Given the description of an element on the screen output the (x, y) to click on. 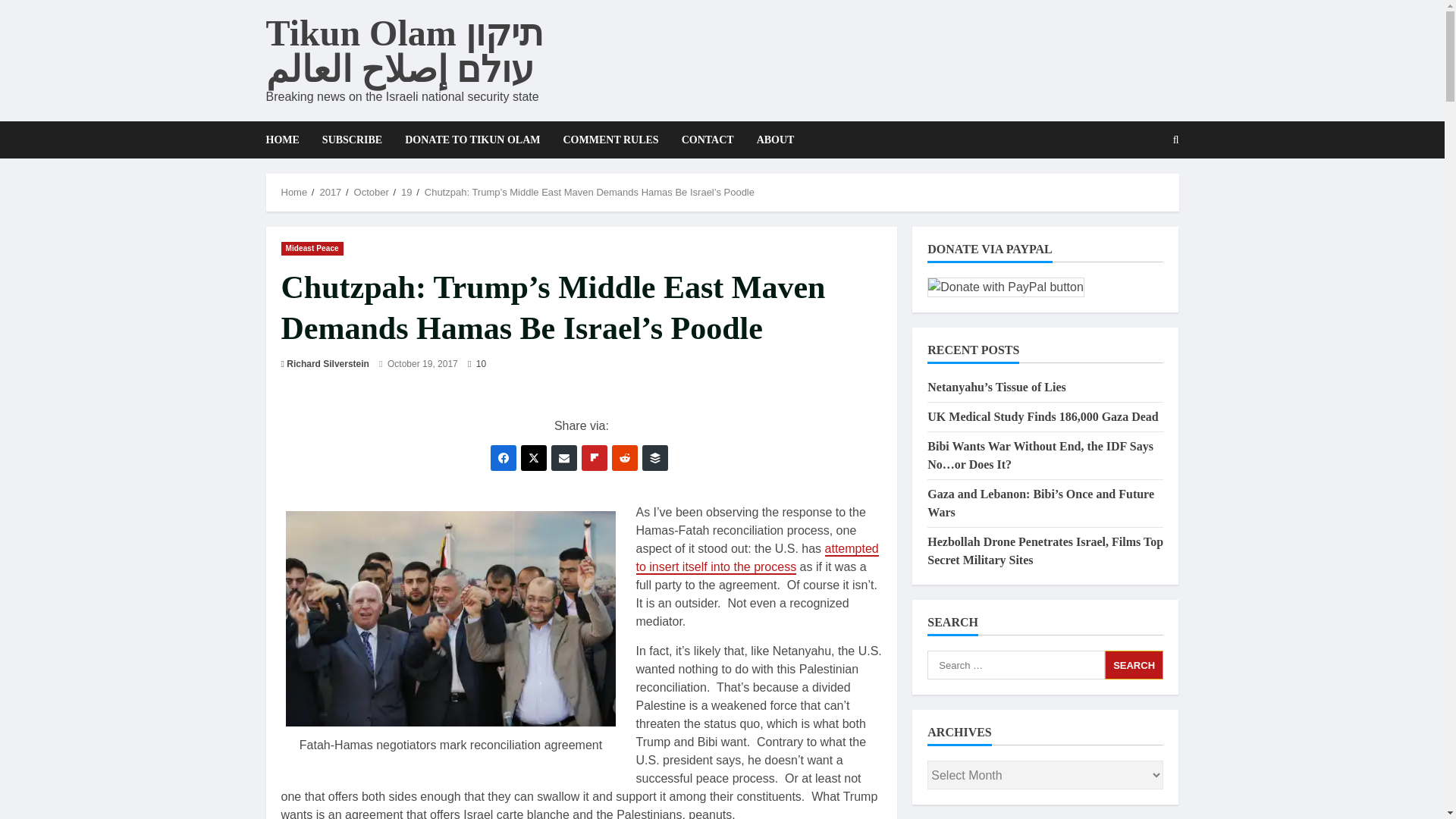
CONTACT (707, 139)
Home (294, 192)
Mideast Peace (311, 247)
Search (1134, 664)
PayPal - The safer, easier way to pay online! (1005, 287)
October (370, 192)
COMMENT RULES (610, 139)
DONATE TO TIKUN OLAM (472, 139)
19 (406, 192)
Search (1134, 664)
